Given the description of an element on the screen output the (x, y) to click on. 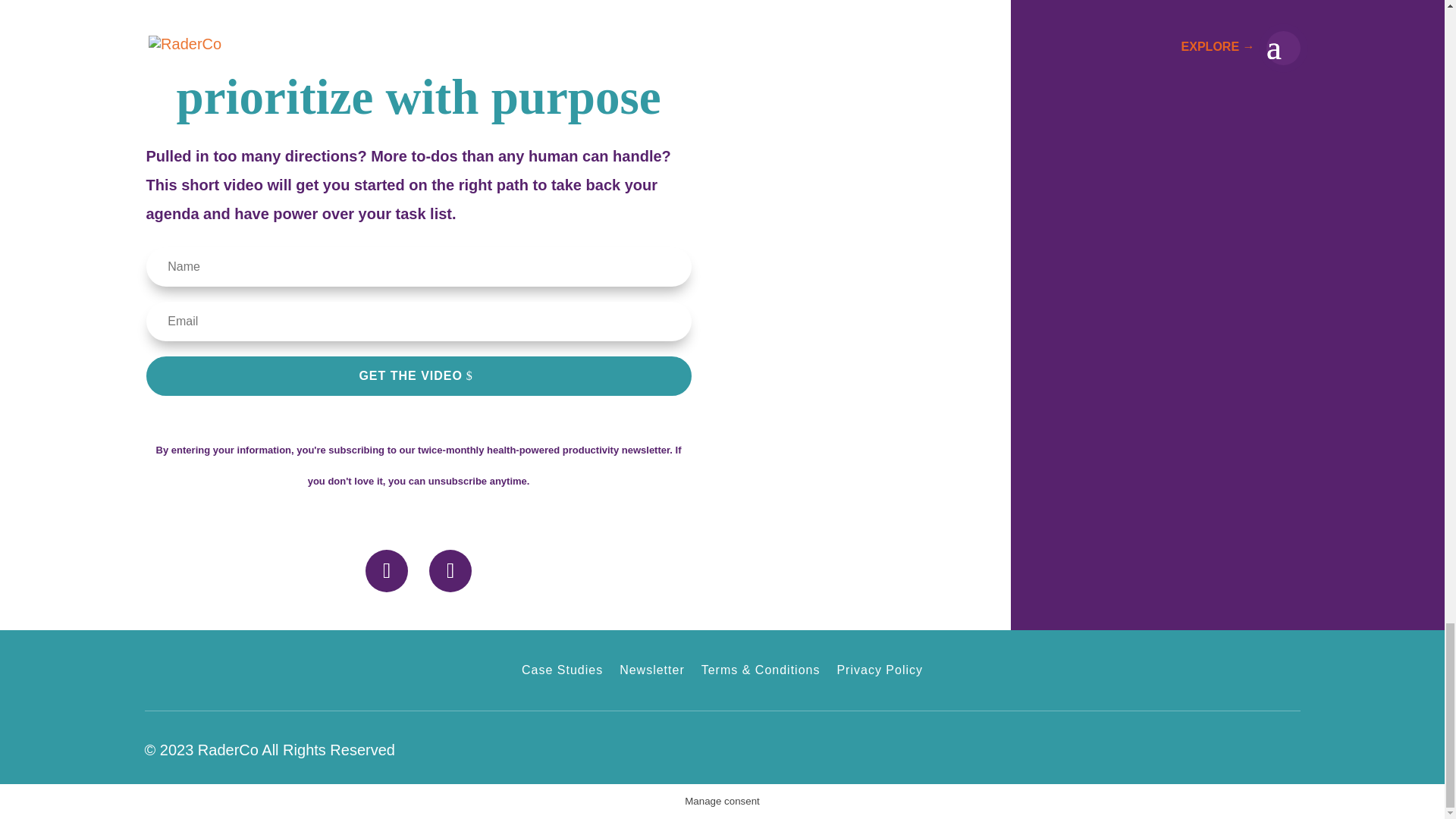
Case Studies (561, 673)
Newsletter (652, 673)
Privacy Policy (879, 673)
Follow on LinkedIn (386, 570)
Follow on Youtube (450, 570)
GET THE VIDEO (417, 375)
